Given the description of an element on the screen output the (x, y) to click on. 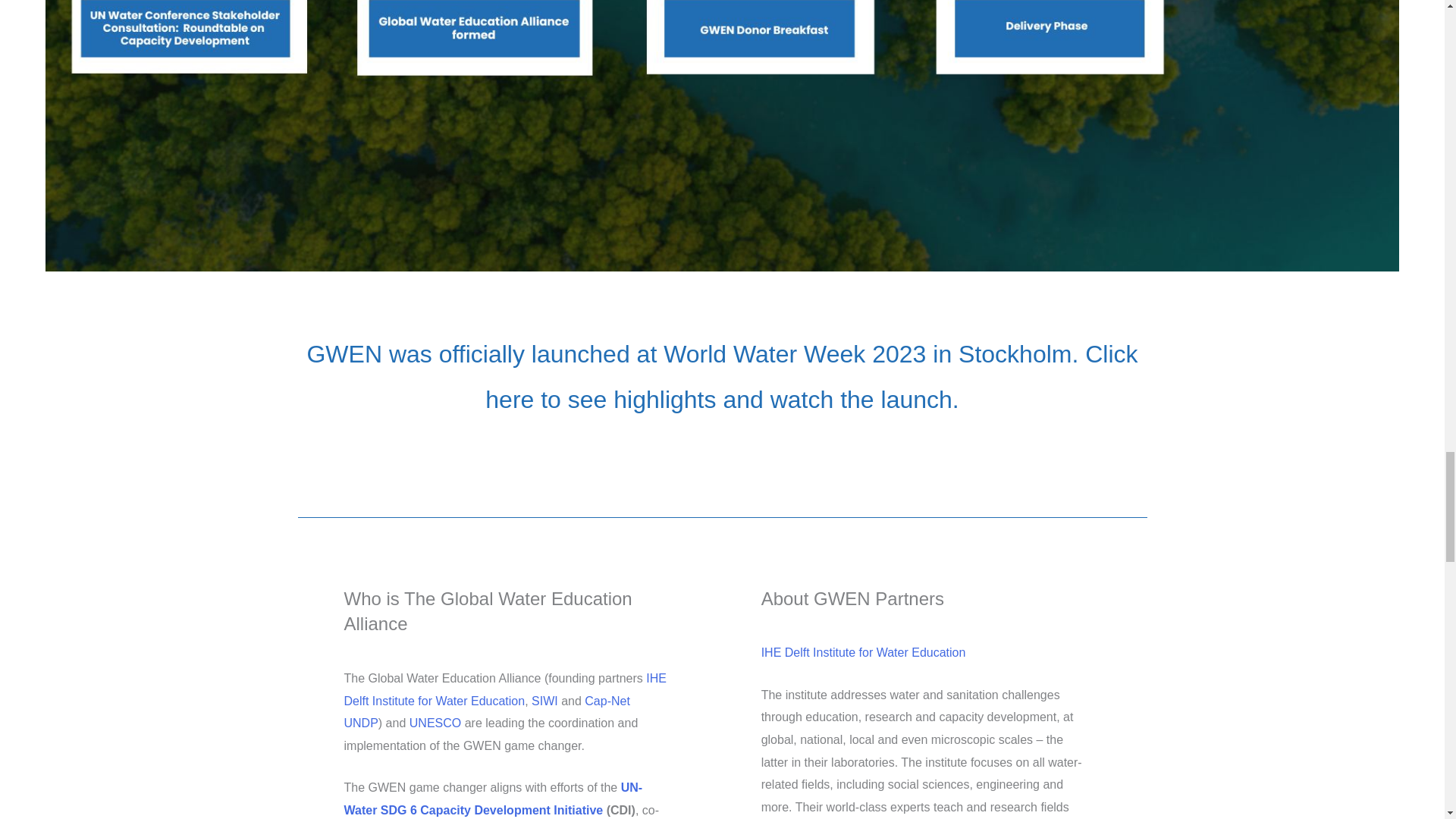
IHE Delft Institute for Water Education (504, 689)
Cap-Net UNDP (486, 712)
UNESCO (435, 722)
SIWI (544, 700)
